Given the description of an element on the screen output the (x, y) to click on. 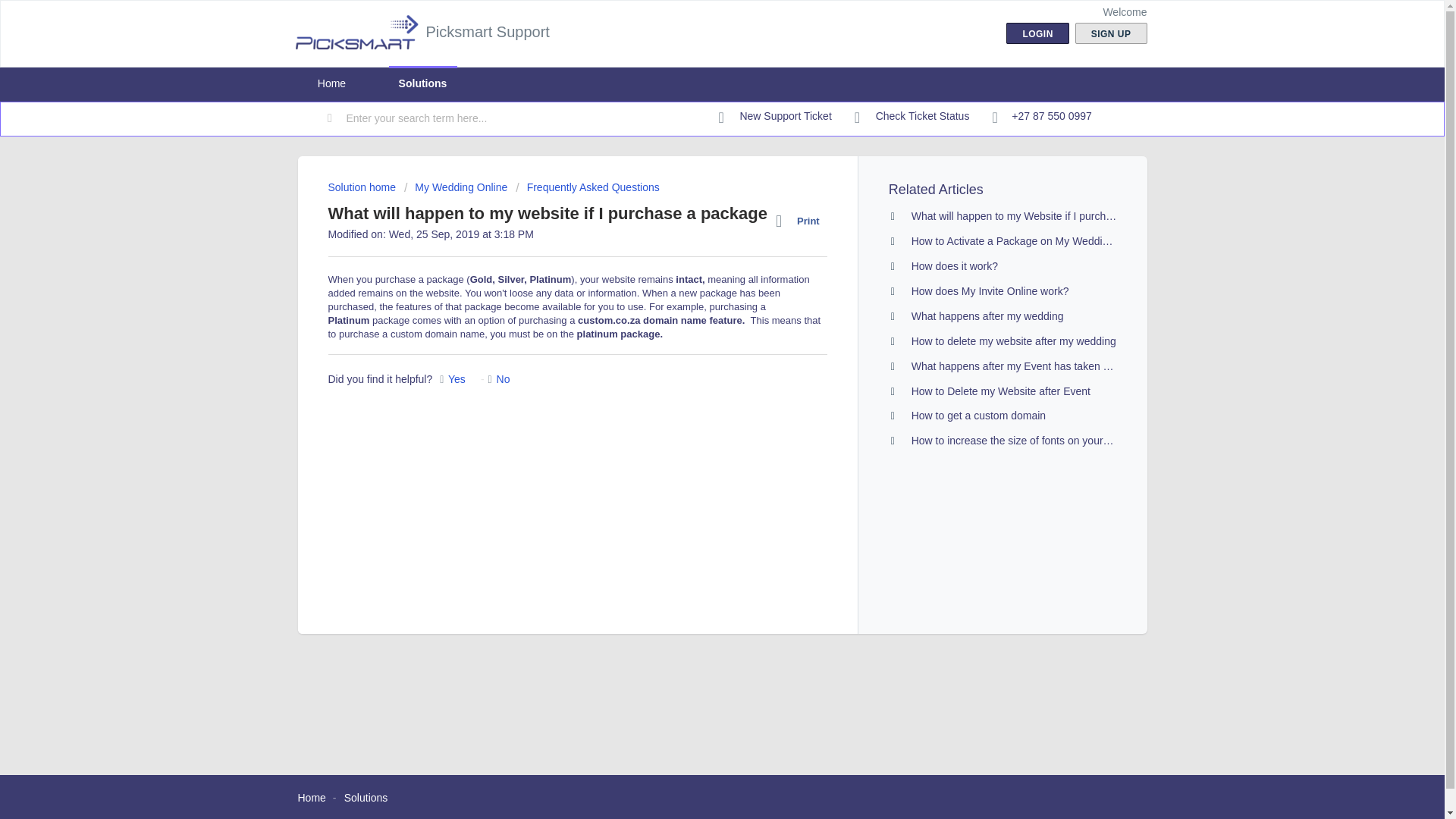
Print (801, 220)
New support ticket (775, 116)
SIGN UP (1111, 33)
Check Ticket Status (911, 116)
Frequently Asked Questions (587, 186)
Home (331, 83)
How to Delete my Website after Event (1000, 390)
How to Activate a Package on My Wedding Online (1029, 241)
Print this Article (801, 220)
New Support Ticket (775, 116)
Solution home (362, 186)
My Wedding Online (455, 186)
LOGIN (1037, 33)
How to delete my website after my wedding (1013, 340)
Home (310, 797)
